Given the description of an element on the screen output the (x, y) to click on. 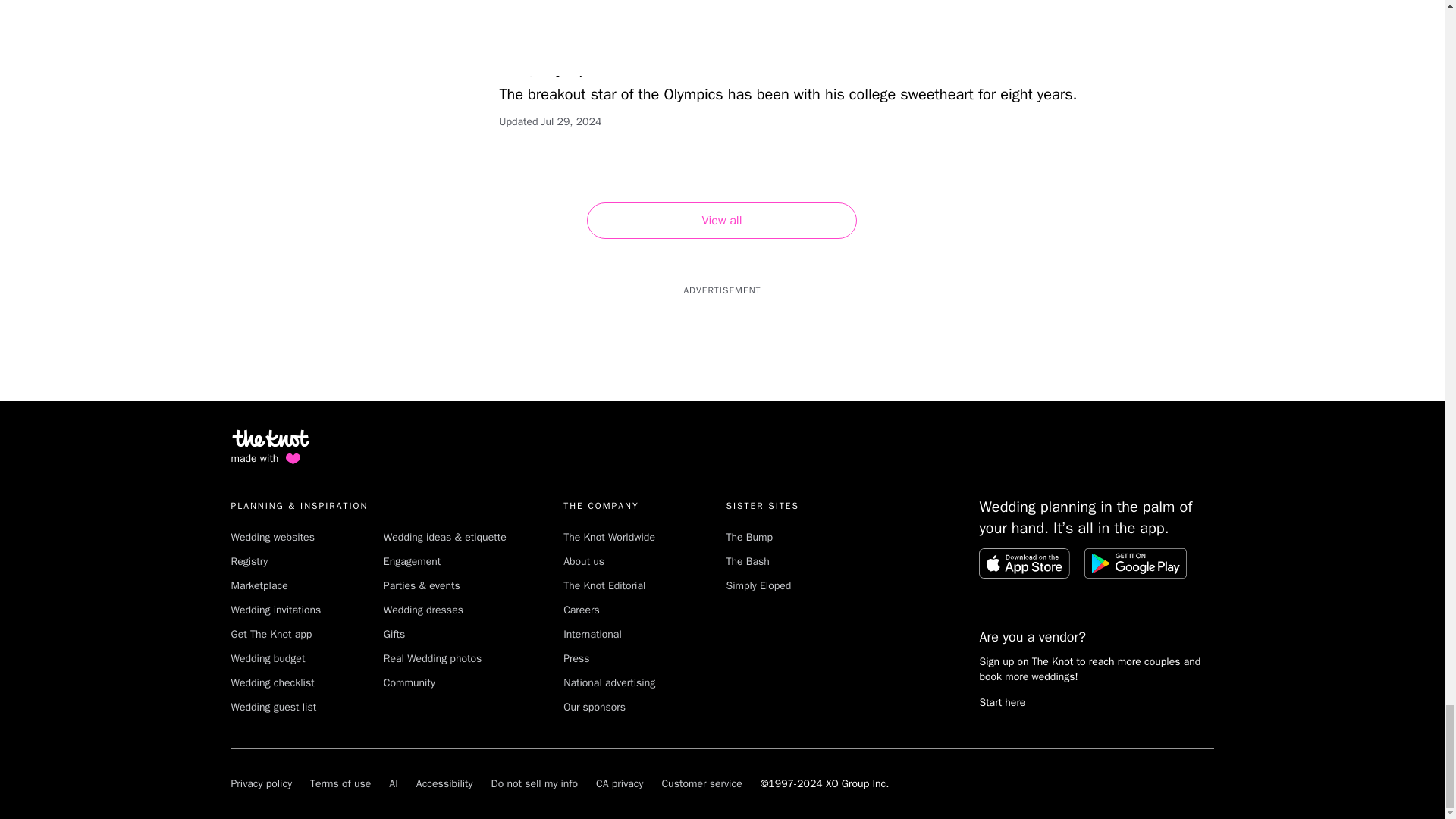
love (292, 458)
